Given the description of an element on the screen output the (x, y) to click on. 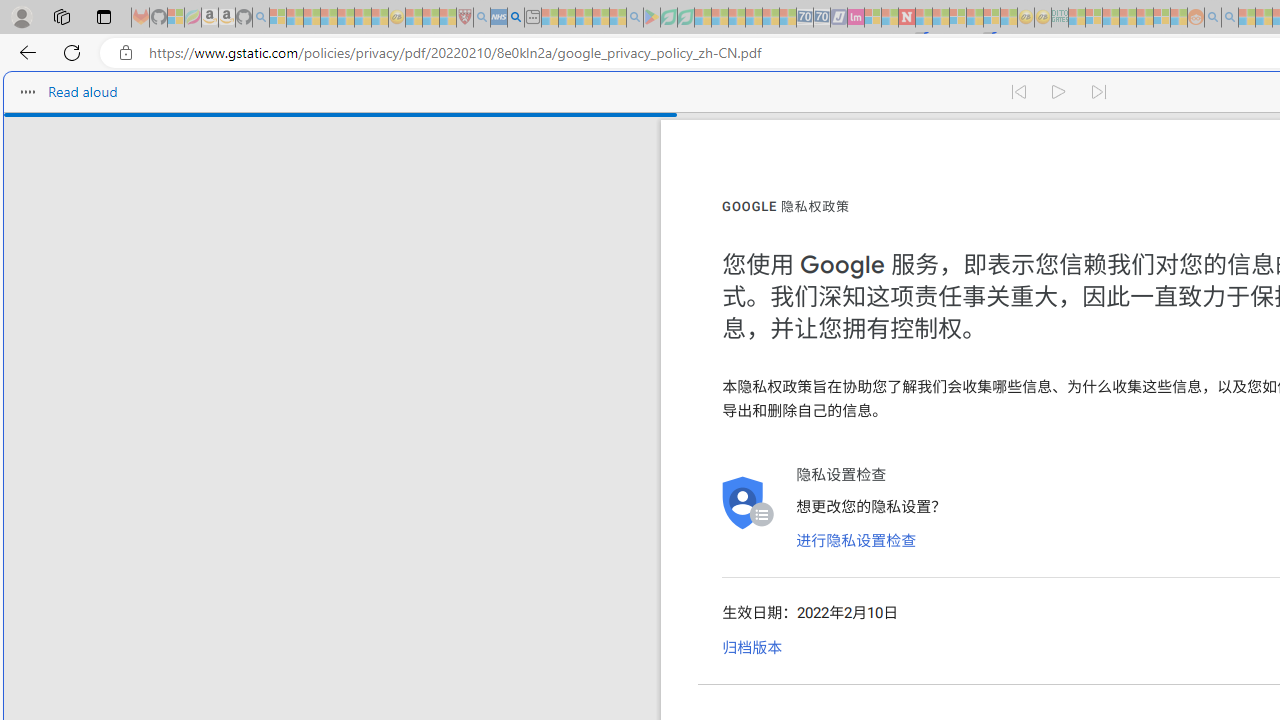
Latest Politics News & Archive | Newsweek.com - Sleeping (906, 17)
Robert H. Shmerling, MD - Harvard Health - Sleeping (465, 17)
Read previous paragraph (1018, 92)
